Given the description of an element on the screen output the (x, y) to click on. 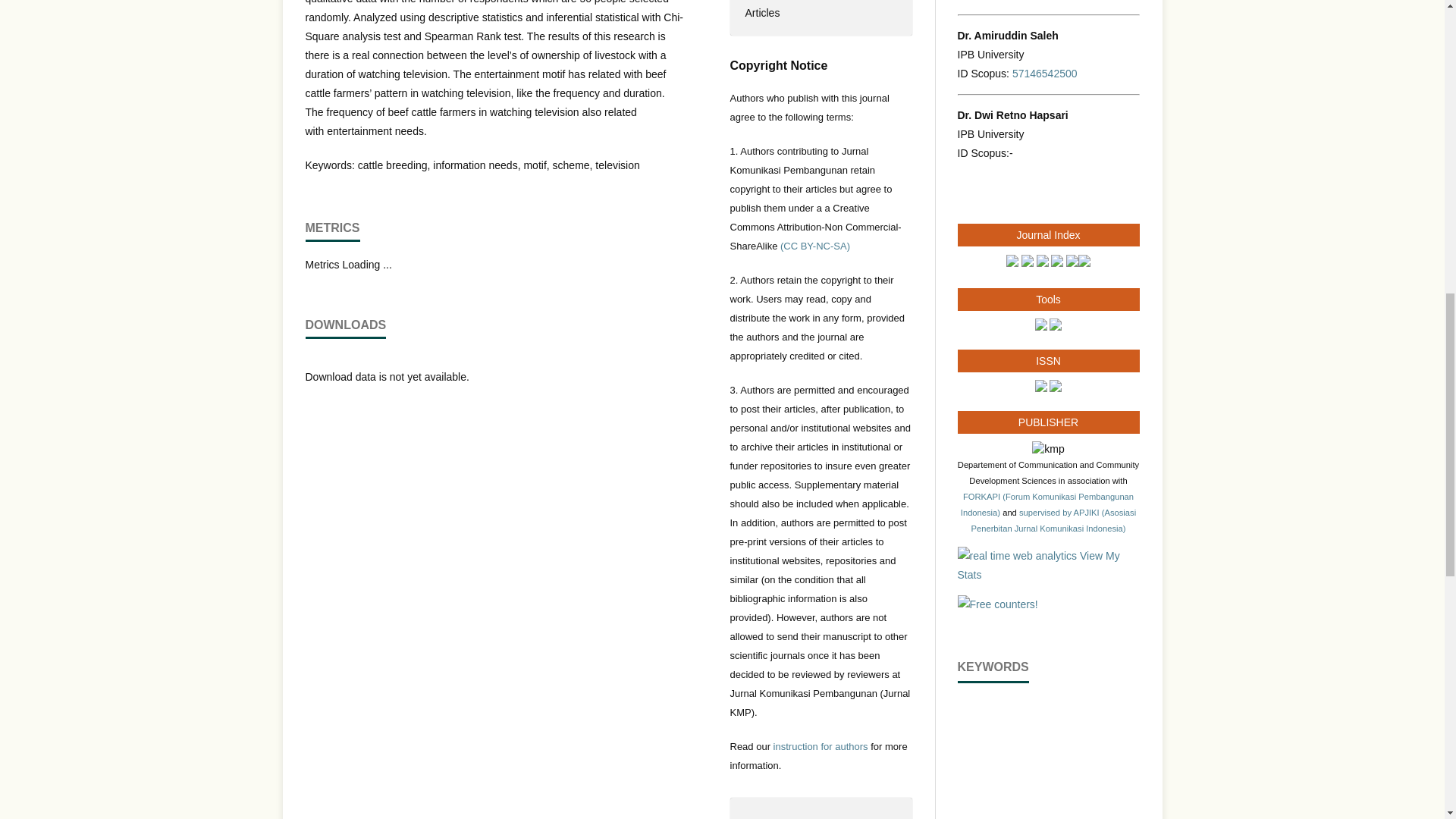
MoU FORKAPI (1047, 504)
Garuda (1027, 263)
P-ISSN (1055, 387)
Scilit (1071, 263)
E-ISSN (1040, 387)
instruction for authors (820, 746)
real time web analytics (1016, 555)
Turnitin (1040, 326)
MoU (1053, 520)
Crossref (1056, 263)
Mendeley (1055, 326)
Scopus ID (1044, 73)
CC (815, 245)
Google Scholar (1041, 263)
instruction for authors (820, 746)
